Given the description of an element on the screen output the (x, y) to click on. 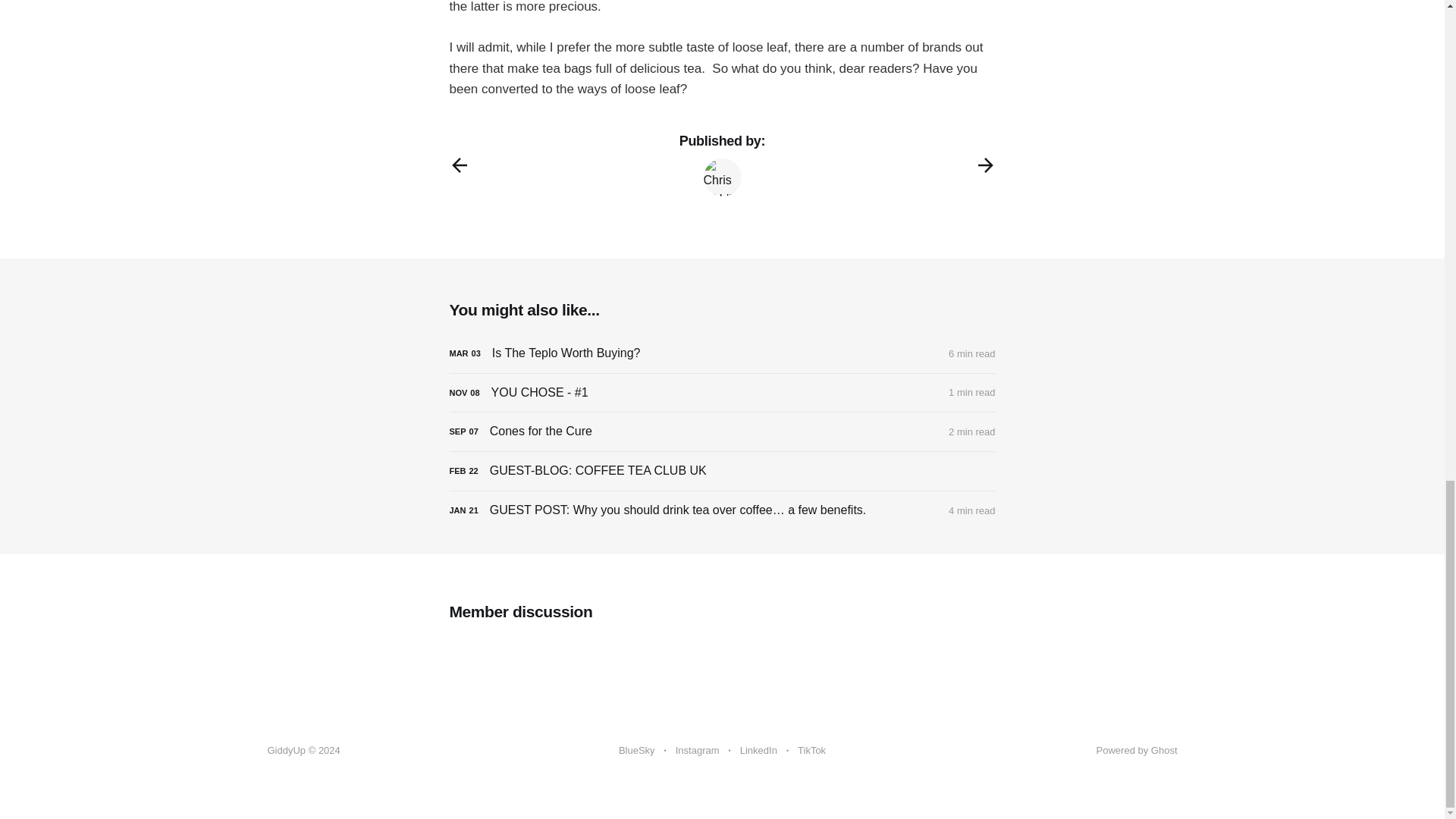
Instagram (697, 750)
TikTok (811, 750)
LinkedIn (758, 750)
Powered by Ghost (1136, 749)
BlueSky (636, 750)
